Given the description of an element on the screen output the (x, y) to click on. 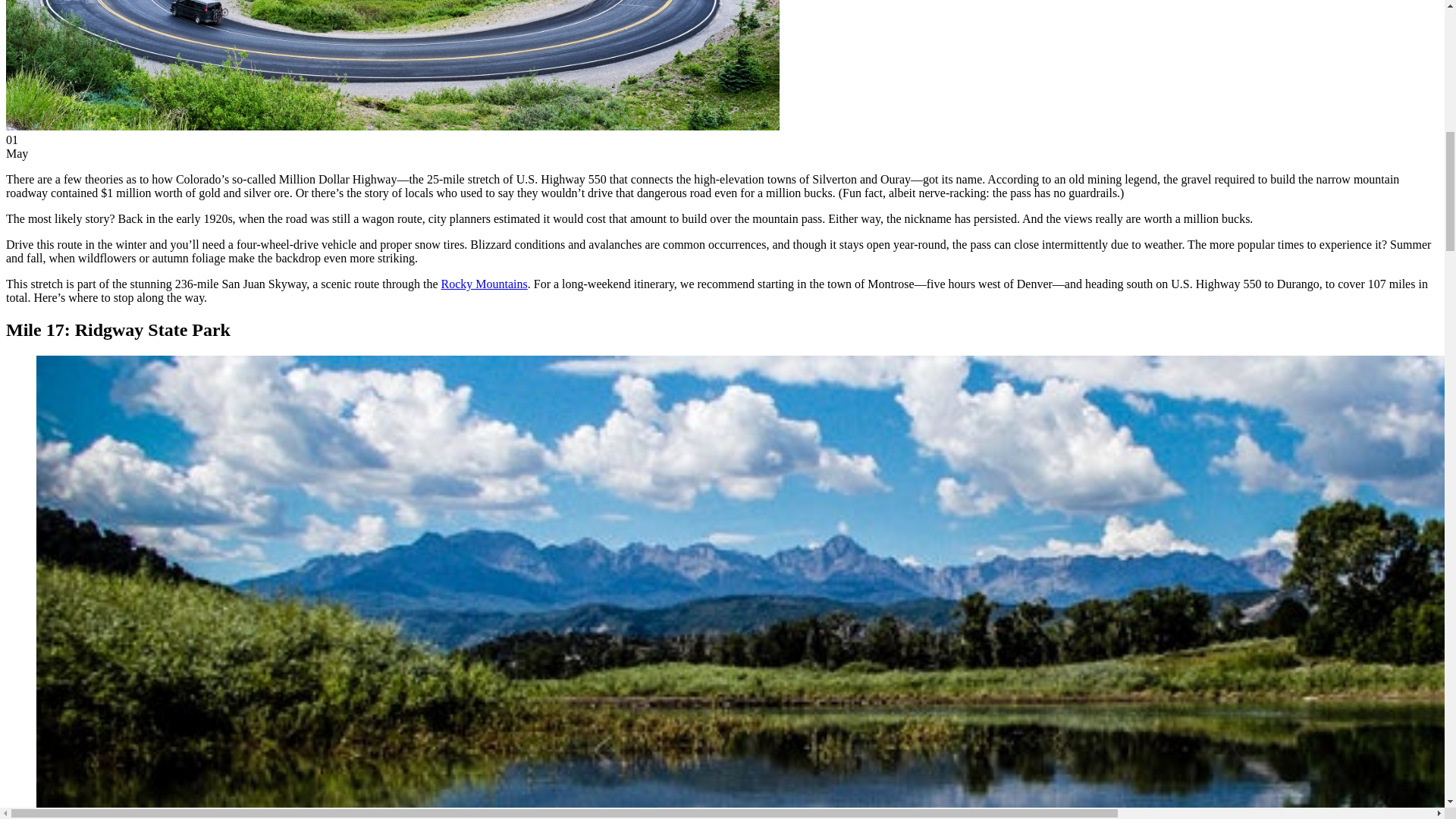
Rocky Mountains (484, 283)
